Given the description of an element on the screen output the (x, y) to click on. 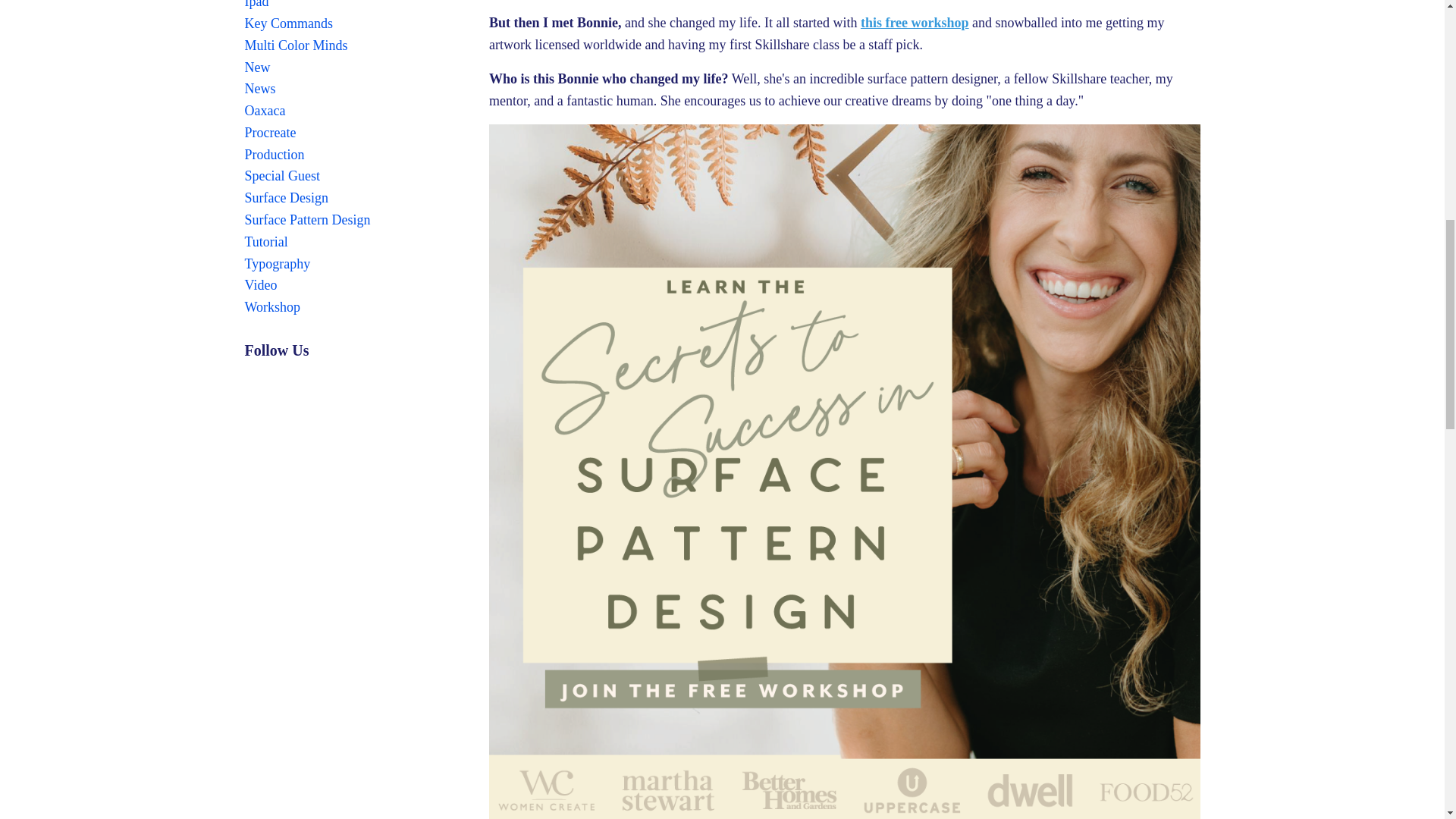
Ipad (354, 6)
Multi Color Minds (354, 45)
this free workshop (914, 22)
Key Commands (354, 24)
New (354, 66)
